Given the description of an element on the screen output the (x, y) to click on. 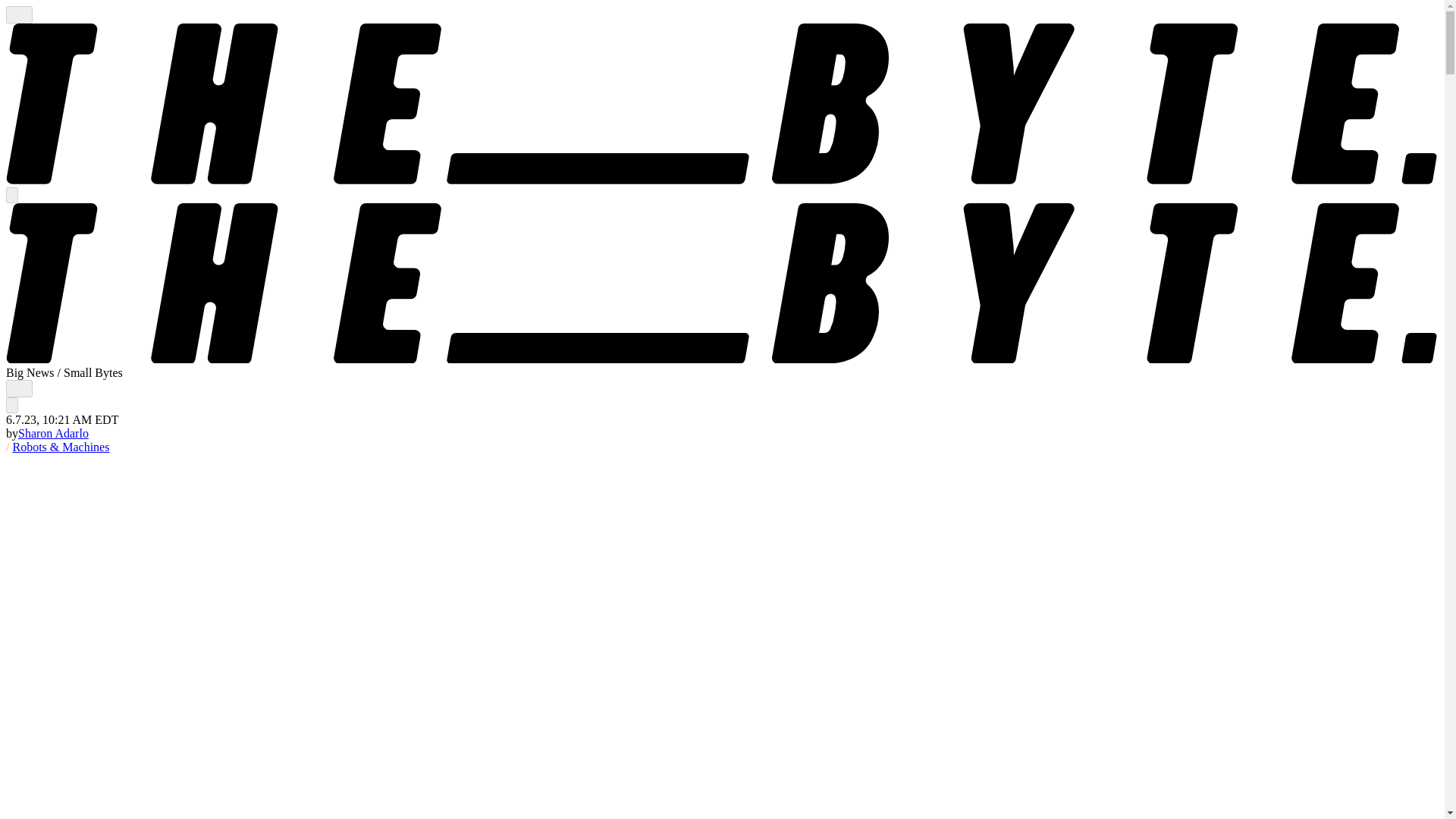
Sharon Adarlo (52, 432)
Sharon Adarlo (52, 432)
